Given the description of an element on the screen output the (x, y) to click on. 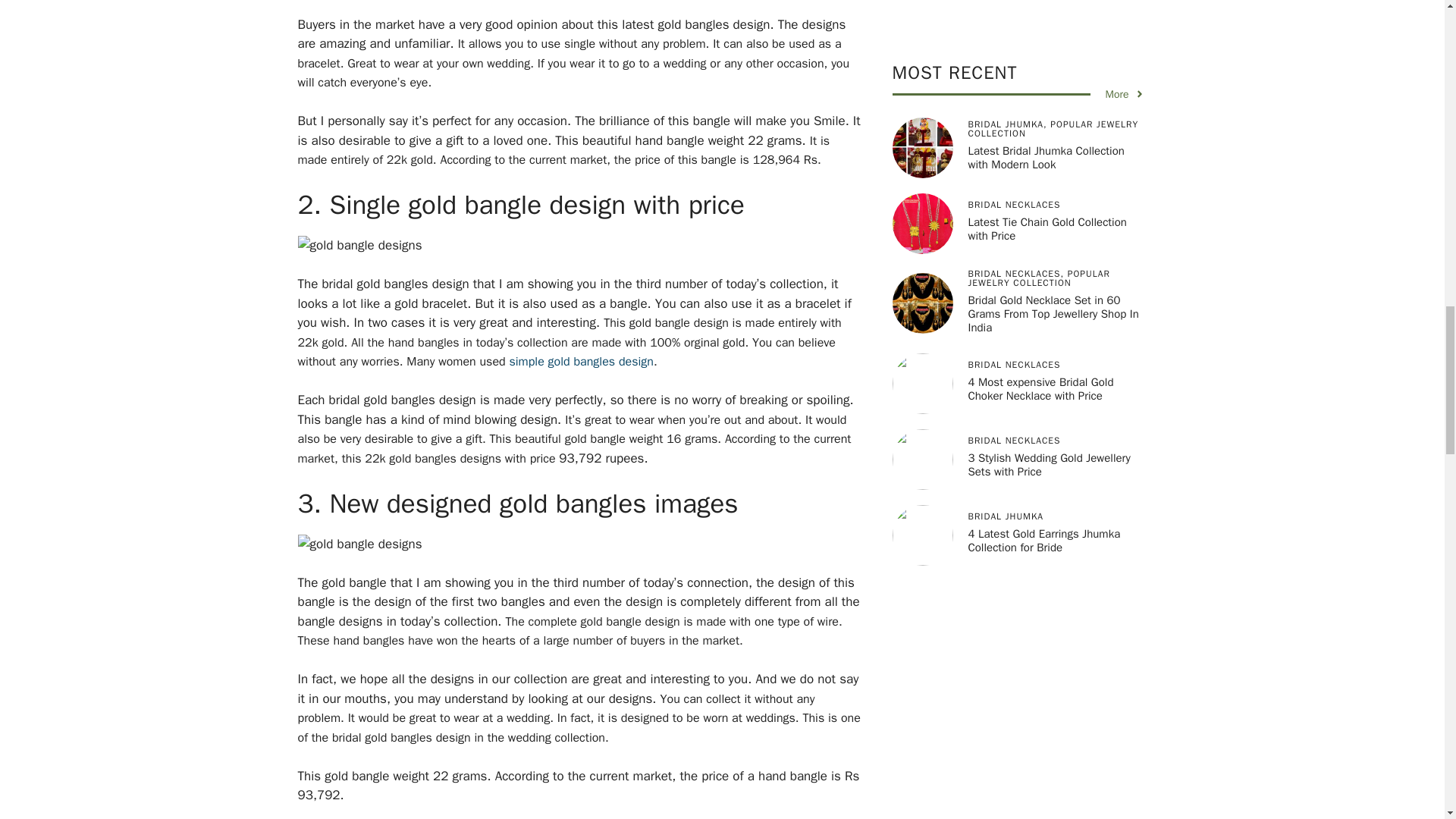
simple gold bangles design (580, 361)
